Given the description of an element on the screen output the (x, y) to click on. 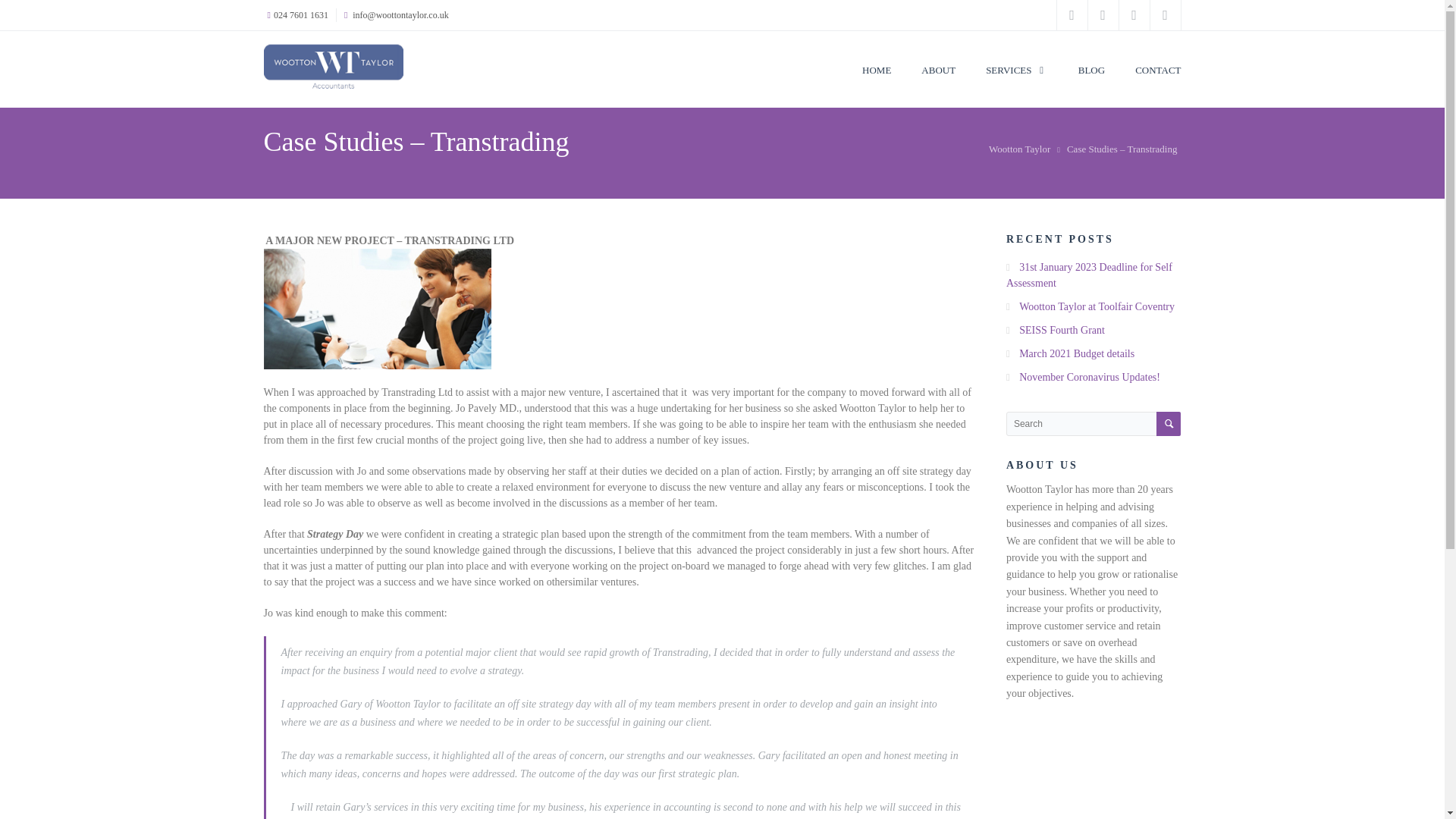
Wootton Taylor at Toolfair Coventry (1096, 306)
November Coronavirus Updates! (1089, 377)
SEISS Fourth Grant (1062, 329)
Wootton Taylor (1018, 148)
Search (1168, 423)
March 2021 Budget details (1076, 353)
Search (1168, 423)
CONTACT (1157, 54)
31st January 2023 Deadline for Self Assessment (1089, 275)
SERVICES (1016, 54)
